Given the description of an element on the screen output the (x, y) to click on. 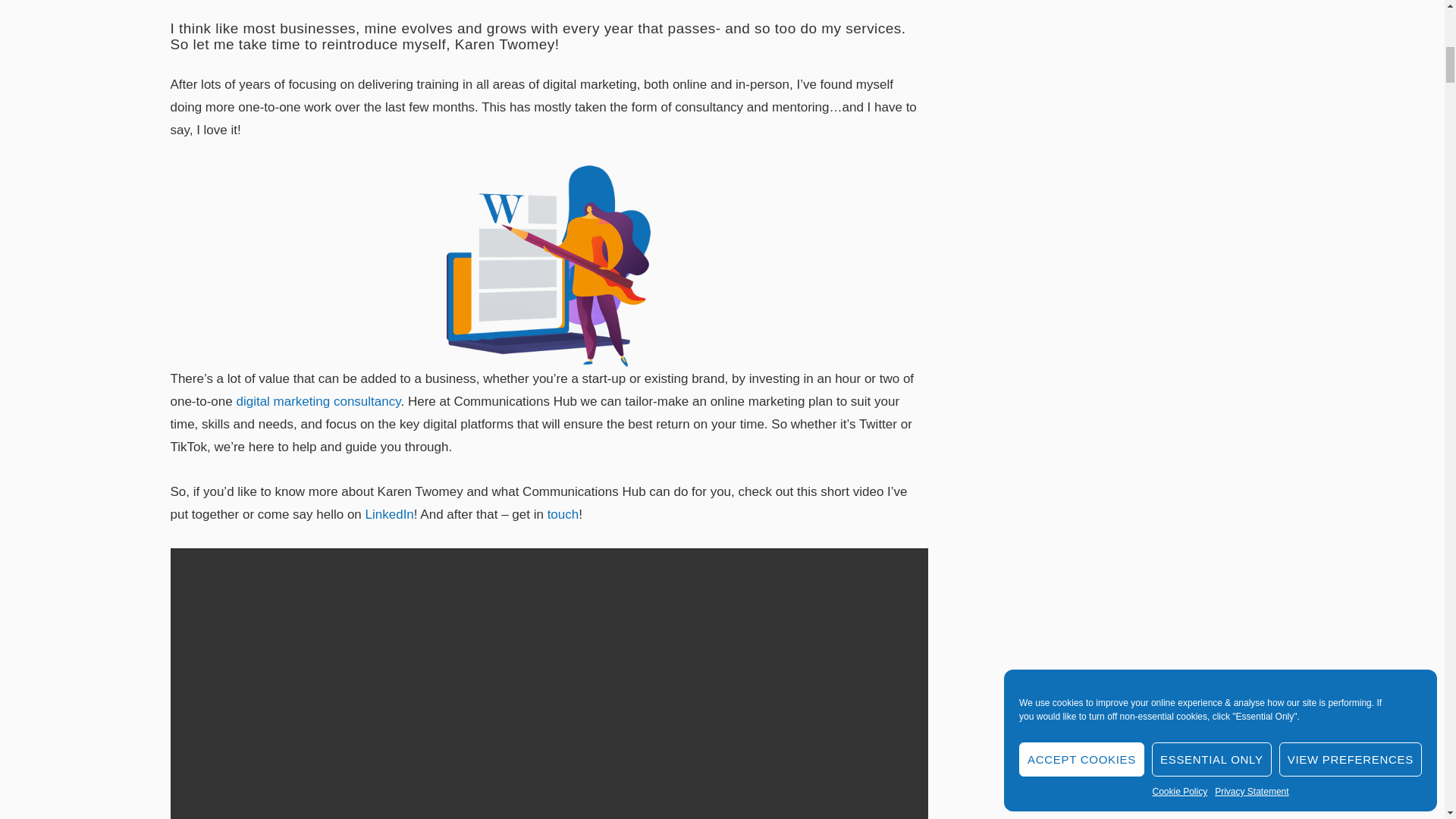
LinkedIn (389, 513)
touch (563, 513)
digital marketing consultancy (317, 400)
